Given the description of an element on the screen output the (x, y) to click on. 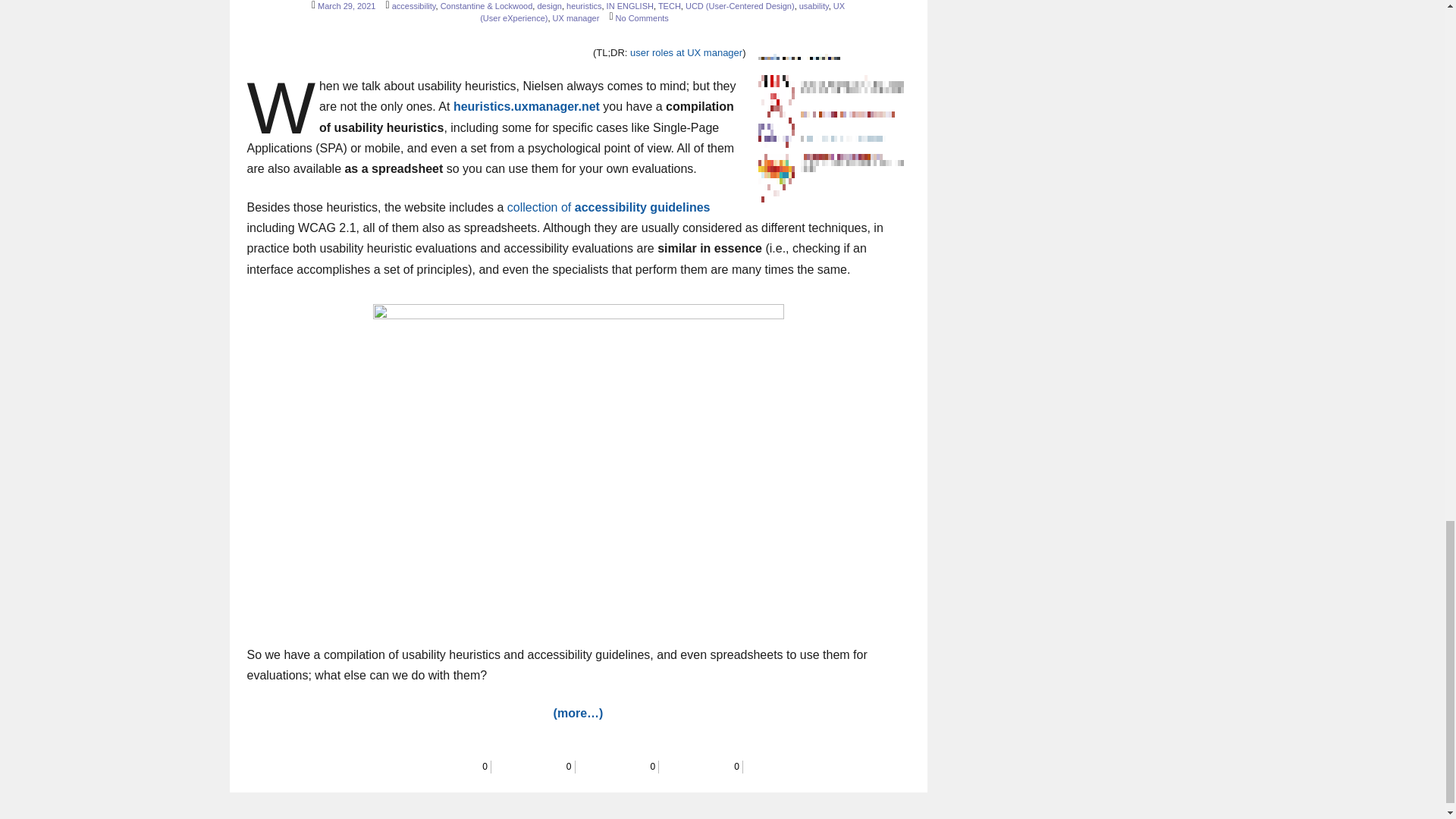
18:27 (346, 5)
